Given the description of an element on the screen output the (x, y) to click on. 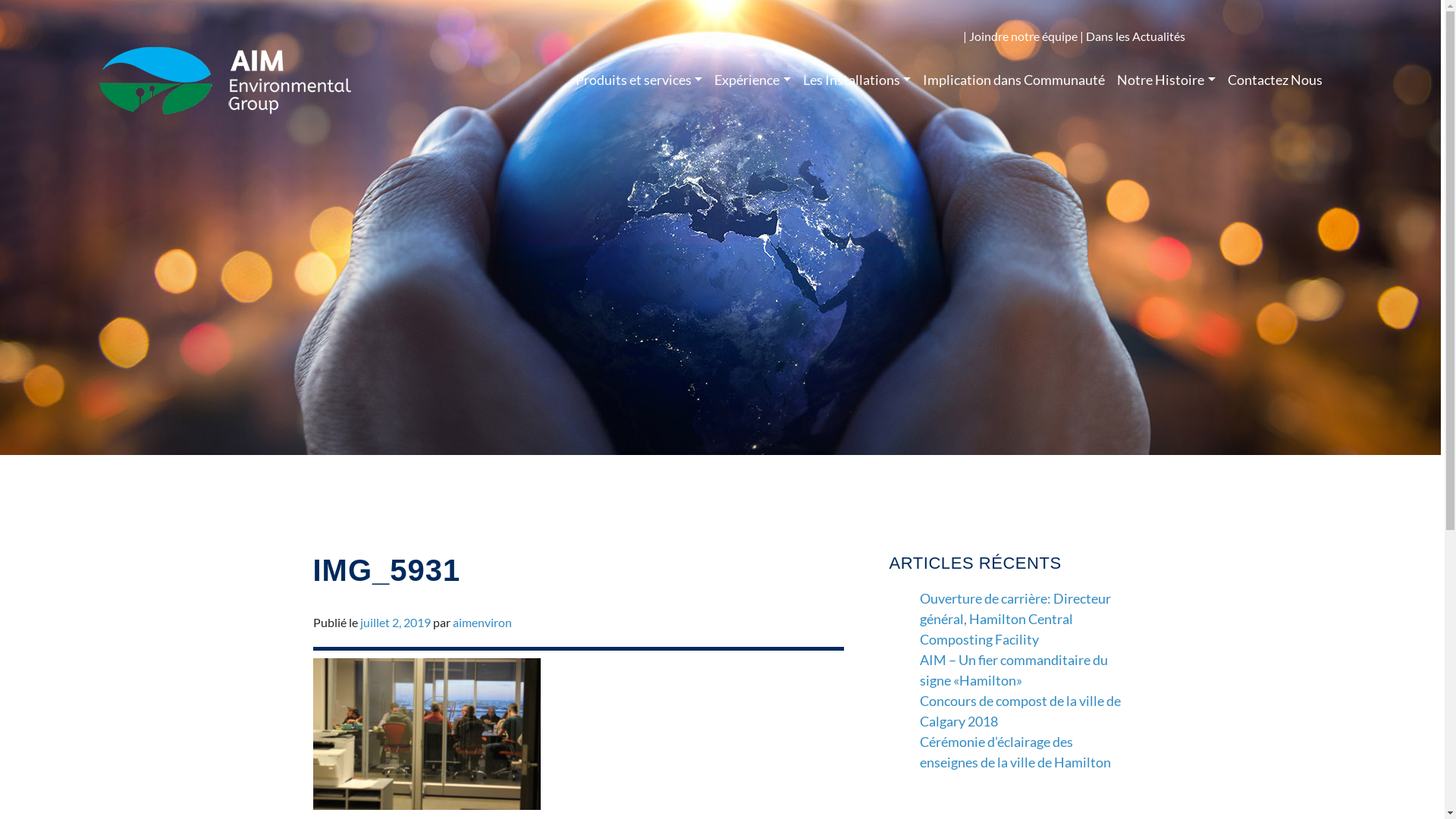
Concours de compost de la ville de Calgary 2018 Element type: text (1019, 710)
Notre Histoire Element type: text (1165, 79)
Produits et services Element type: text (639, 79)
AIM Environmental Group Element type: hover (225, 79)
Les Installations Element type: text (857, 79)
aimenviron Element type: text (481, 622)
juillet 2, 2019 Element type: text (394, 622)
news-banner Element type: hover (720, 227)
Contactez Nous Element type: text (1274, 79)
